Given the description of an element on the screen output the (x, y) to click on. 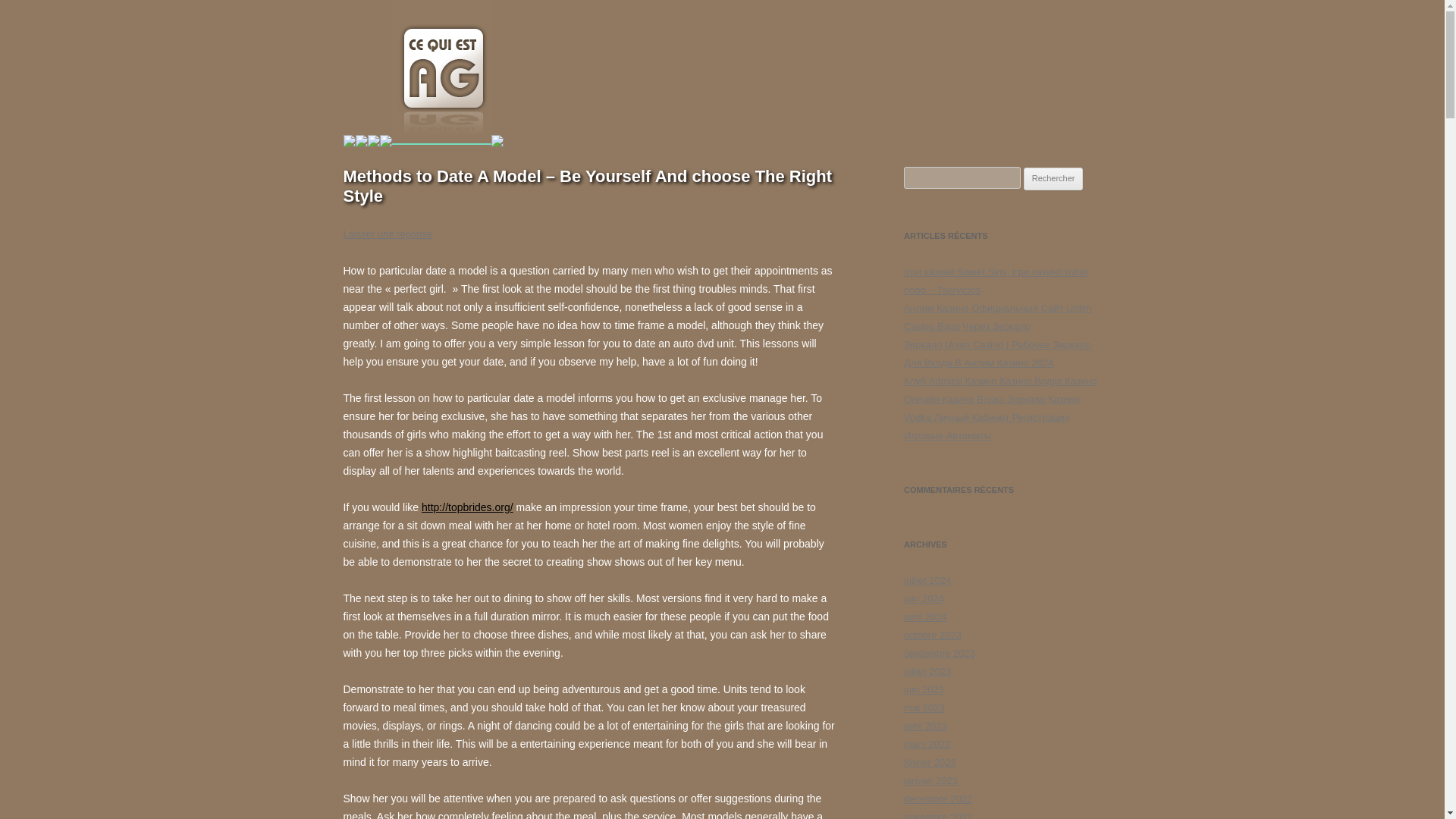
novembre 2022 (938, 815)
juillet 2024 (927, 580)
avril 2024 (925, 616)
juin 2023 (923, 689)
Rechercher (1053, 178)
mai 2023 (923, 707)
mars 2023 (927, 744)
septembre 2023 (939, 653)
Rechercher (1053, 178)
octobre 2023 (932, 634)
janvier 2023 (931, 780)
juillet 2023 (927, 671)
juin 2024 (923, 598)
avril 2023 (925, 726)
